Given the description of an element on the screen output the (x, y) to click on. 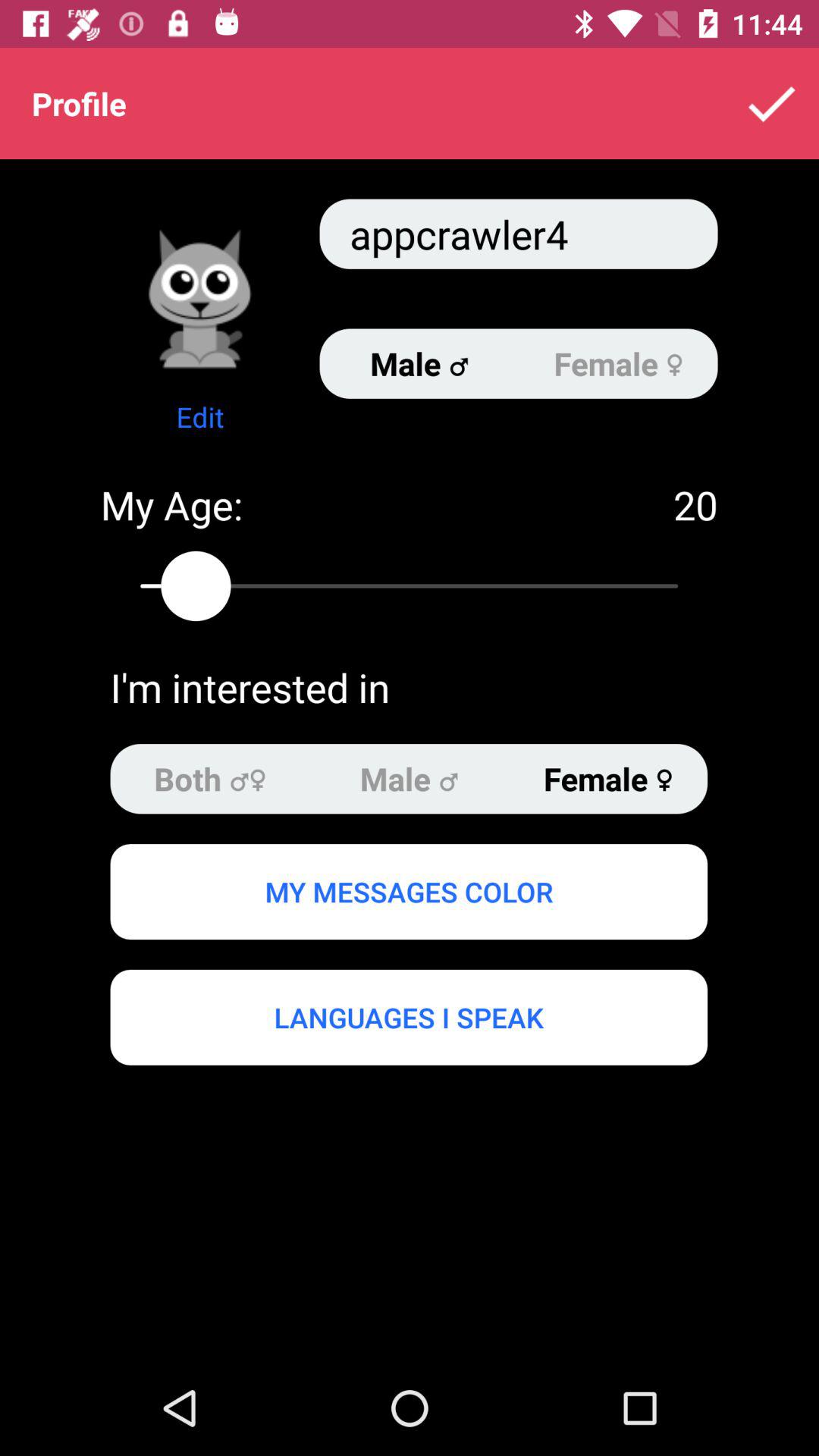
open the icon below my messages color (408, 1017)
